Given the description of an element on the screen output the (x, y) to click on. 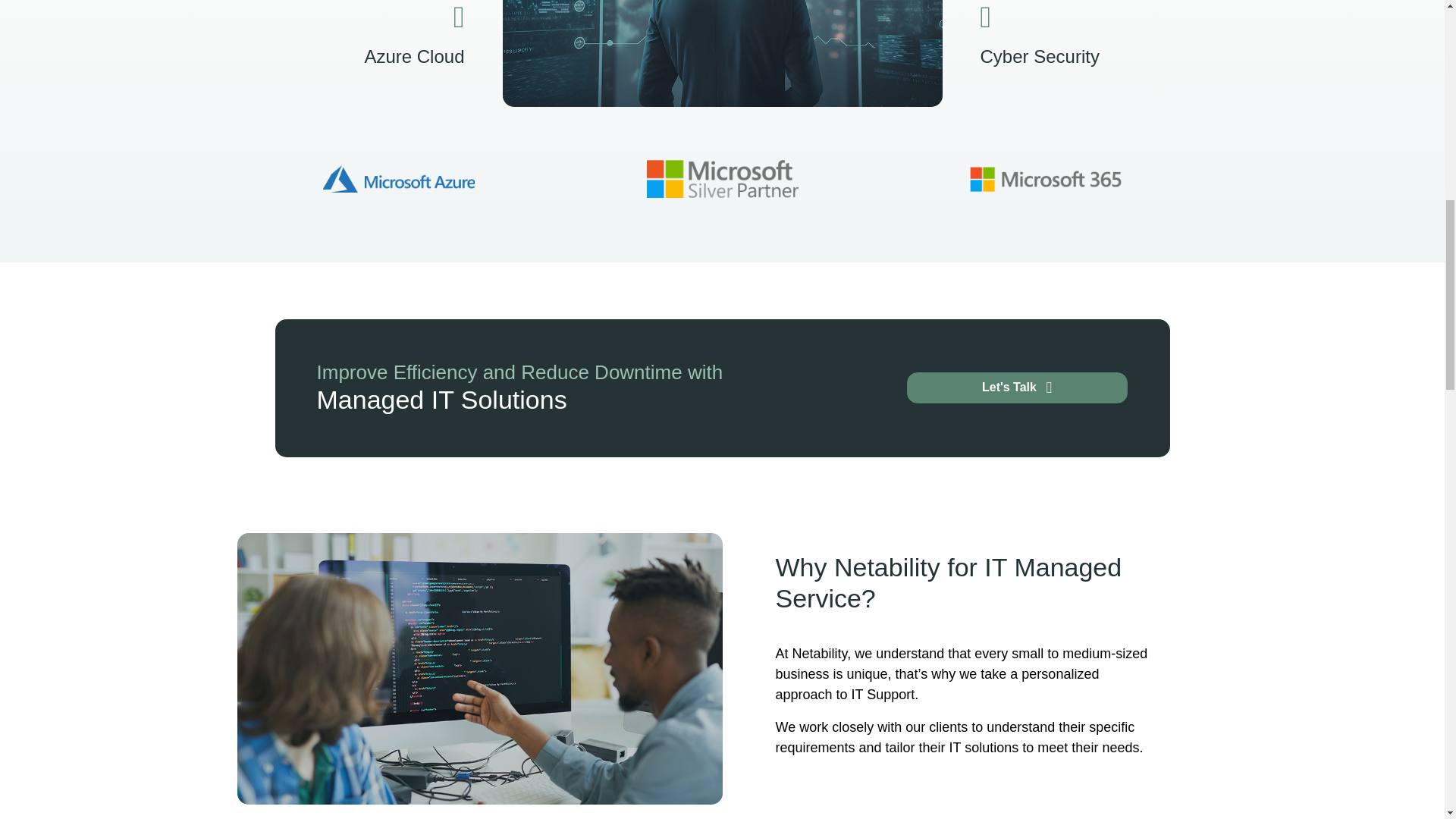
Microsoft-365-logo (721, 178)
